Given the description of an element on the screen output the (x, y) to click on. 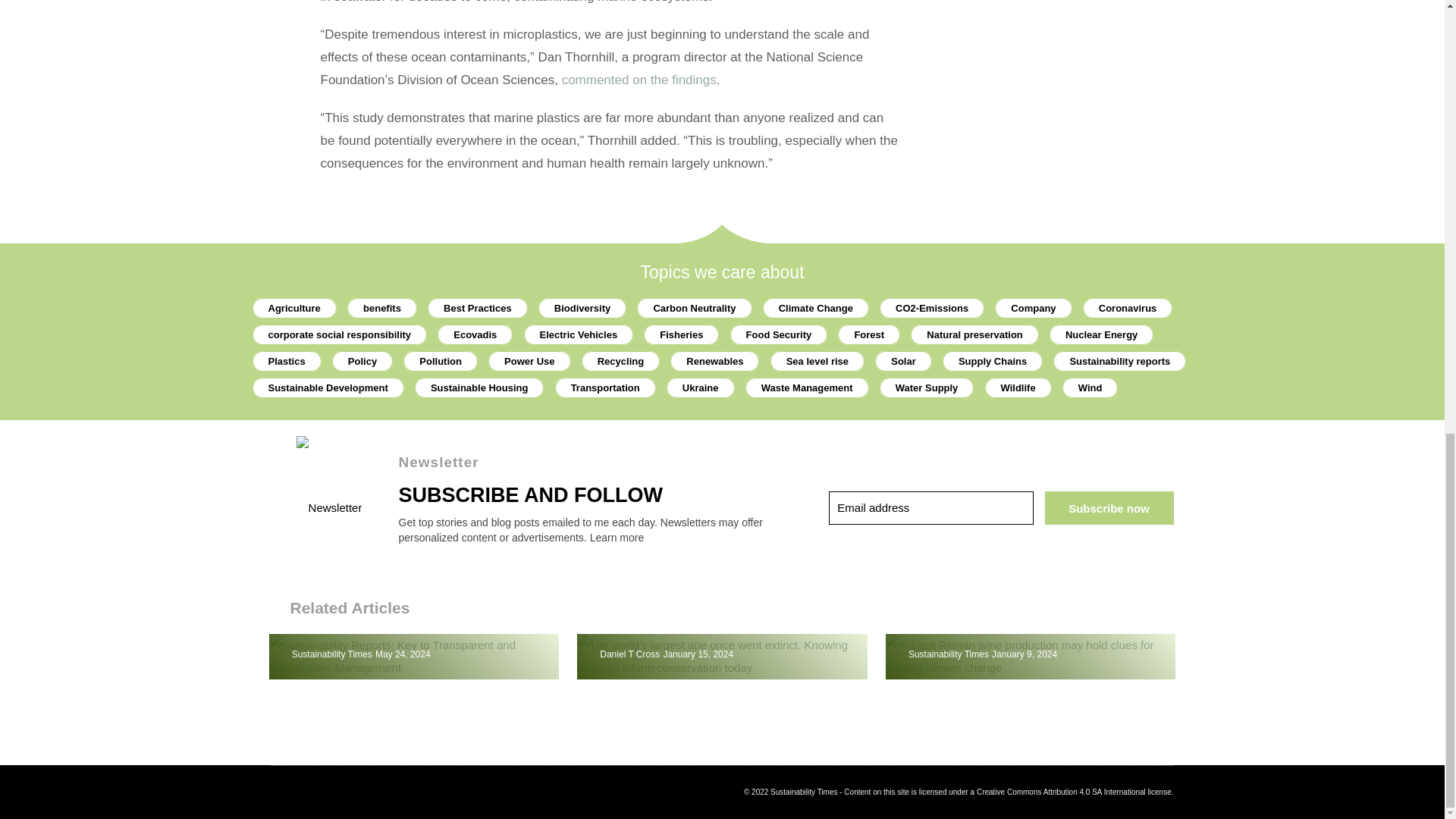
Subscribe now (1109, 507)
